Given the description of an element on the screen output the (x, y) to click on. 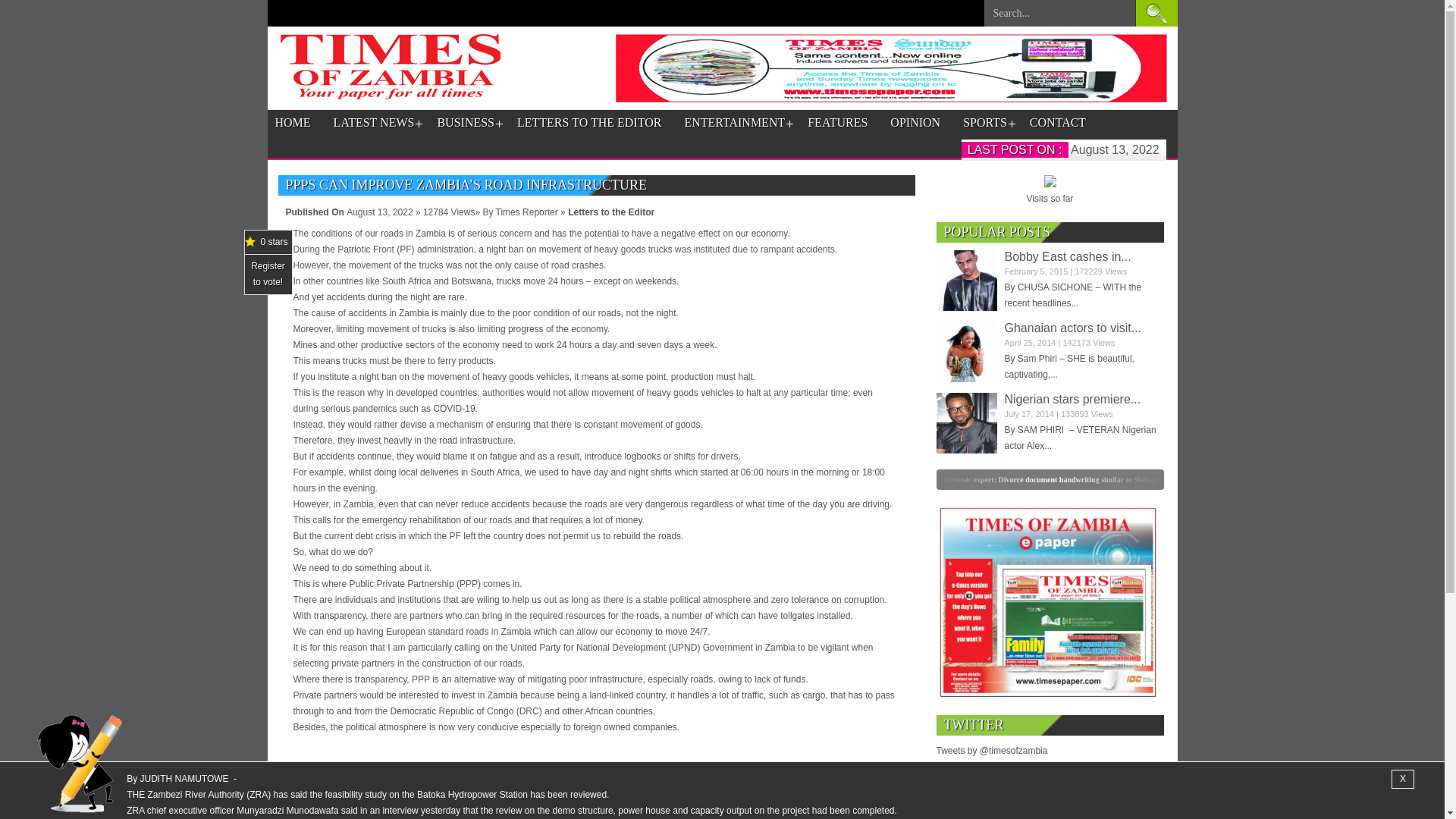
Letters to the Editor (610, 212)
Search... (1059, 17)
CONTACT (1057, 122)
0 (836, 479)
Ghanaian actors to visit Zambia (1072, 327)
Bobby East  cashes in at  The Bank Cafe (1067, 256)
Bobby East  cashes in at  The Bank Cafe (965, 280)
FEATURES (837, 122)
LETTERS TO THE EDITOR (588, 122)
HOME (292, 122)
